Given the description of an element on the screen output the (x, y) to click on. 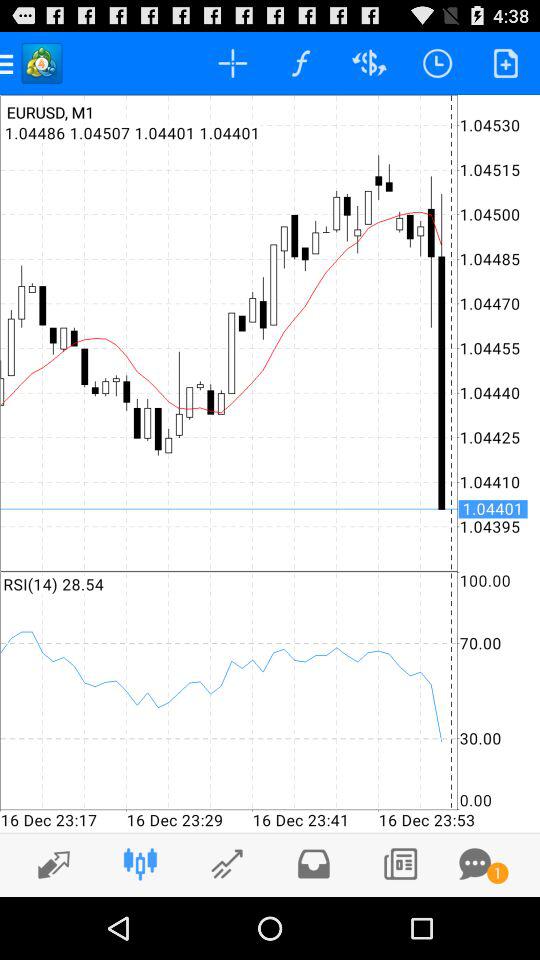
open comments (475, 864)
